Given the description of an element on the screen output the (x, y) to click on. 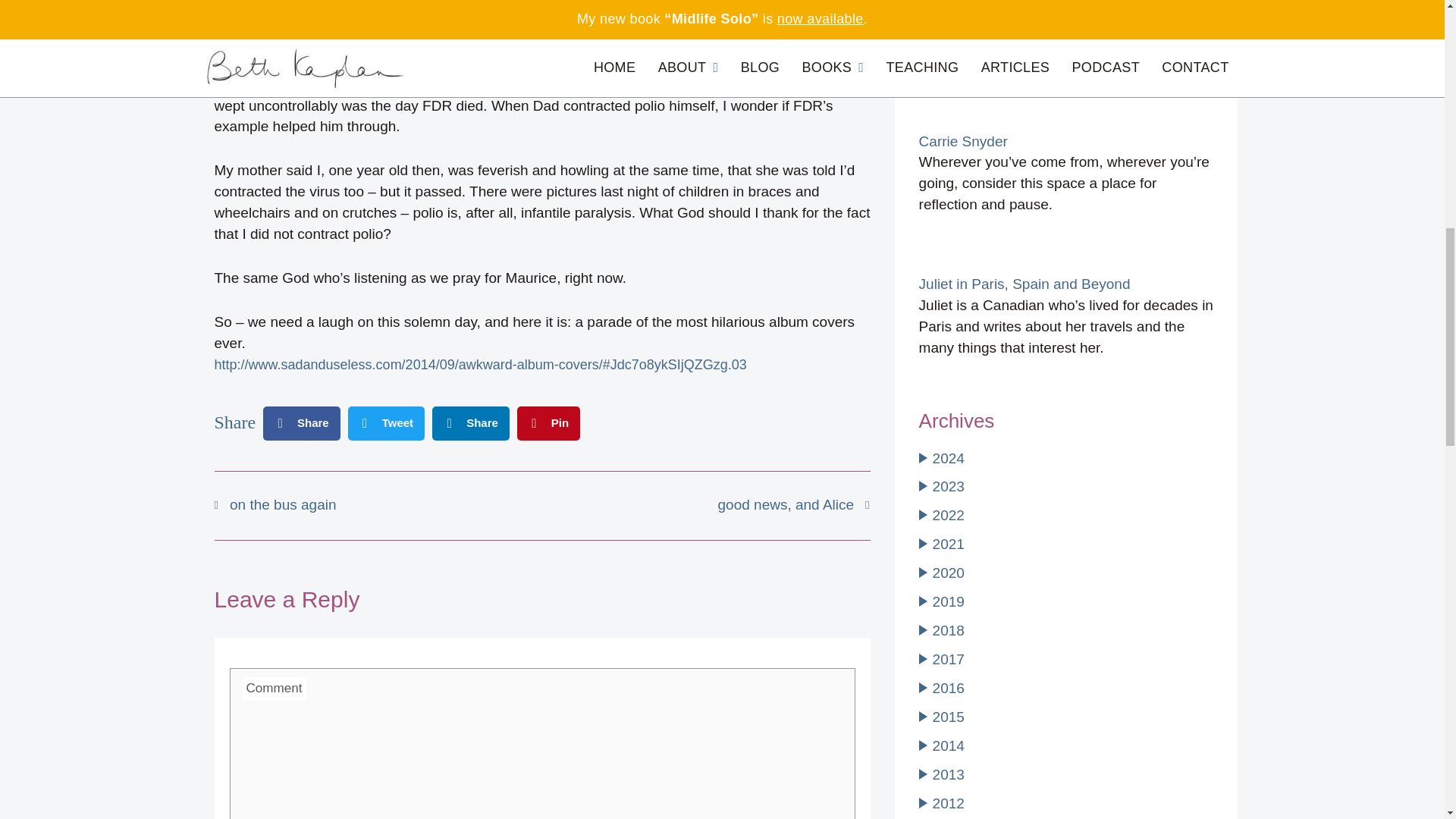
Juliet in Paris, Spain and Beyond (1024, 283)
Carrie Snyder (962, 141)
on the bus again (377, 504)
good news, and Alice (705, 504)
Walking Woman (970, 19)
2024 (948, 458)
